Given the description of an element on the screen output the (x, y) to click on. 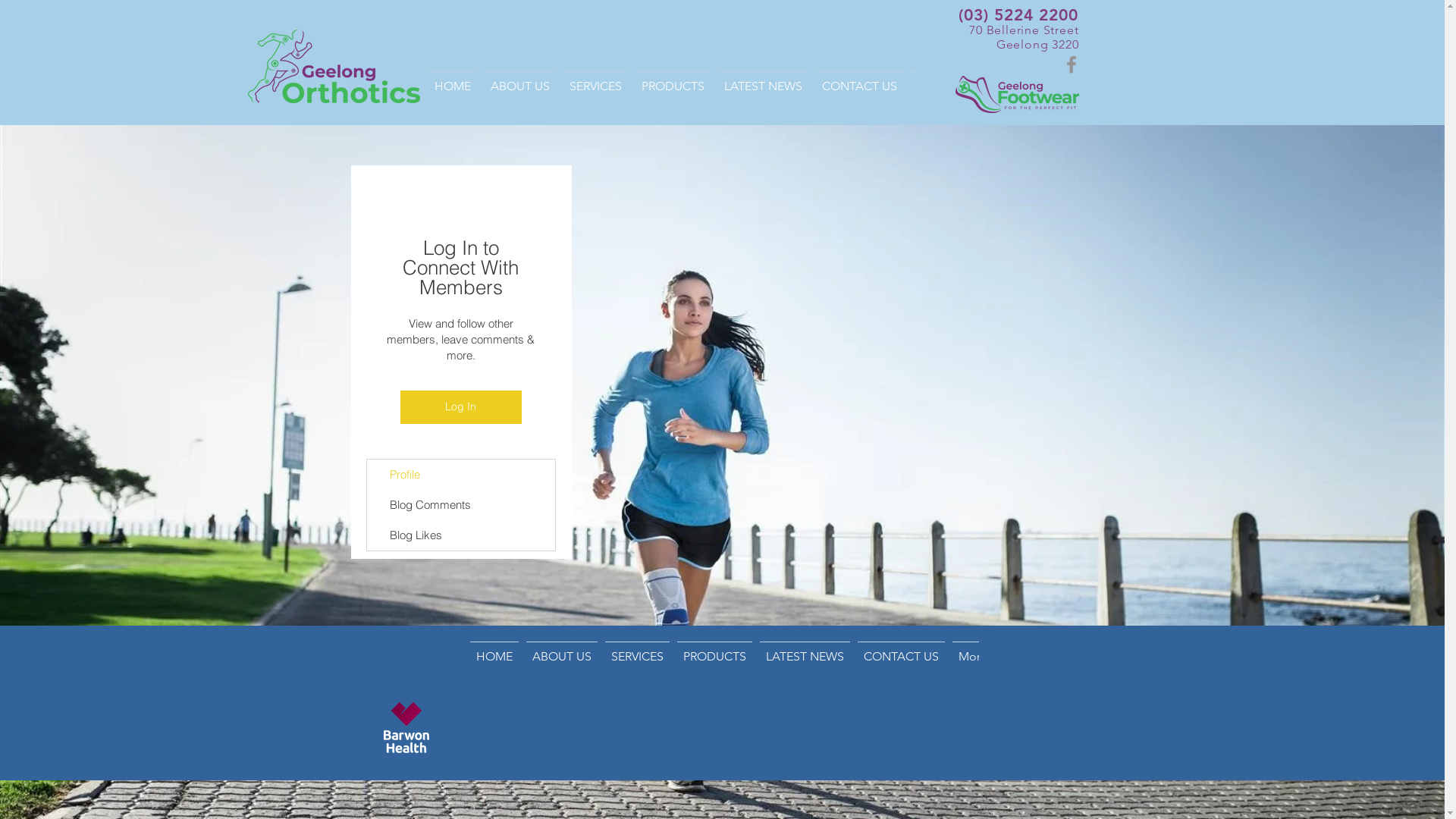
CONTACT US Element type: text (858, 87)
CONTACT US Element type: text (900, 660)
Log In Element type: text (460, 406)
LATEST NEWS Element type: text (804, 660)
HOME Element type: text (493, 660)
Profile Element type: text (461, 474)
PRODUCTS Element type: text (671, 87)
SERVICES Element type: text (636, 660)
ABOUT US Element type: text (519, 87)
LATEST NEWS Element type: text (763, 87)
Blog Likes Element type: text (461, 535)
PRODUCTS Element type: text (714, 660)
ABOUT US Element type: text (560, 660)
SERVICES Element type: text (595, 87)
HOME Element type: text (452, 87)
Blog Comments Element type: text (461, 504)
